Given the description of an element on the screen output the (x, y) to click on. 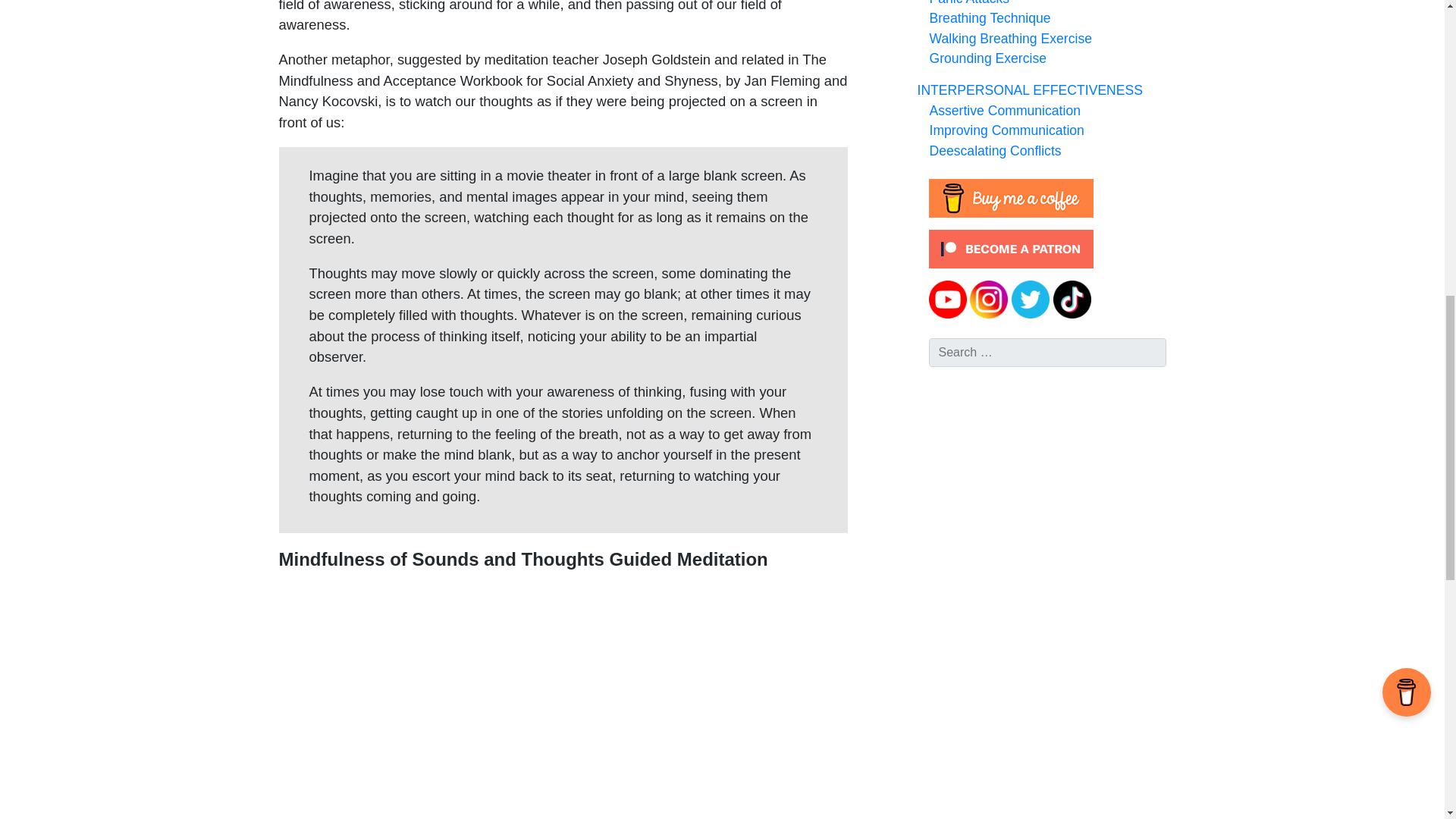
Search for: (1047, 352)
